Given the description of an element on the screen output the (x, y) to click on. 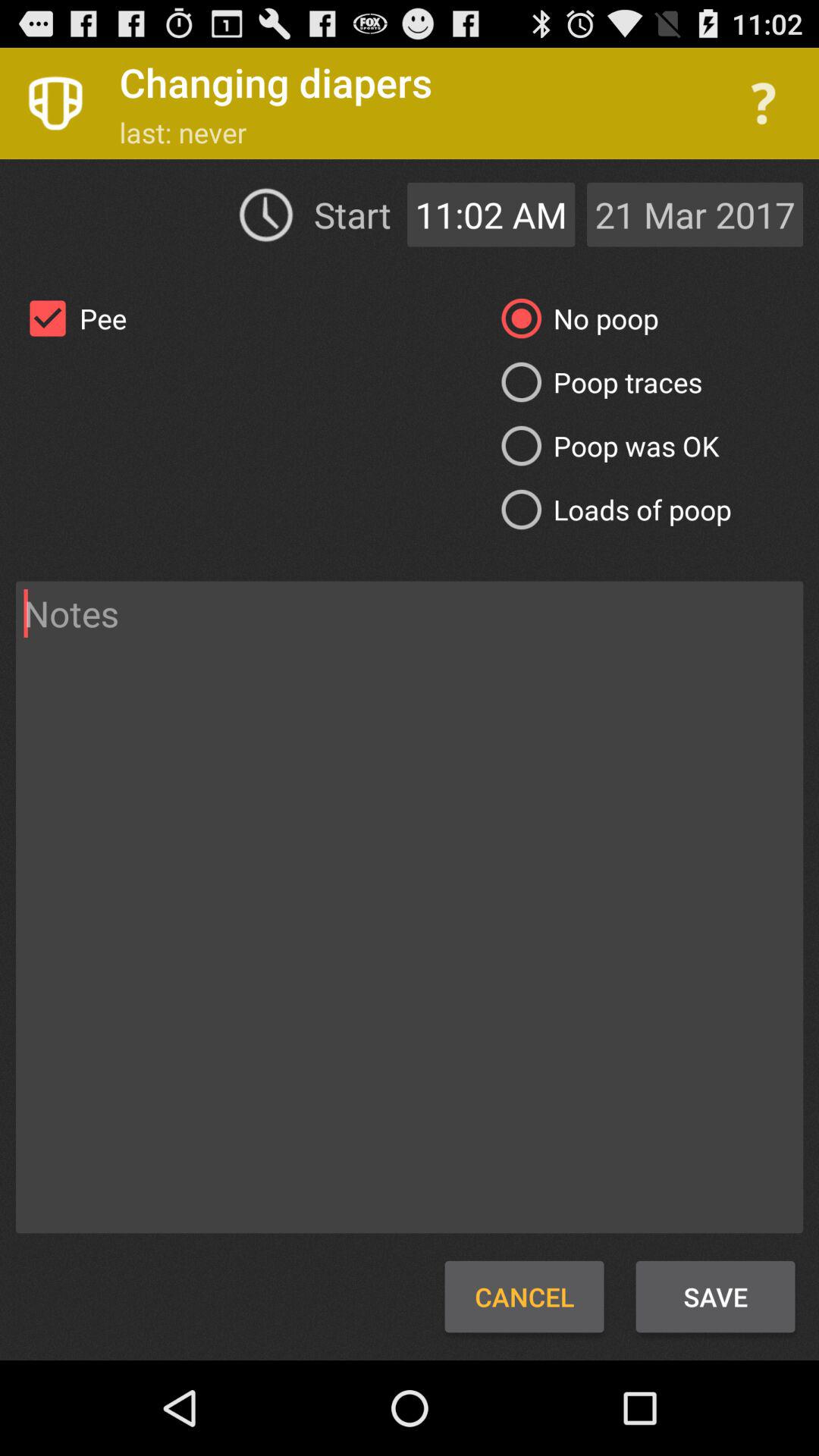
turn on icon to the left of no poop icon (70, 318)
